Given the description of an element on the screen output the (x, y) to click on. 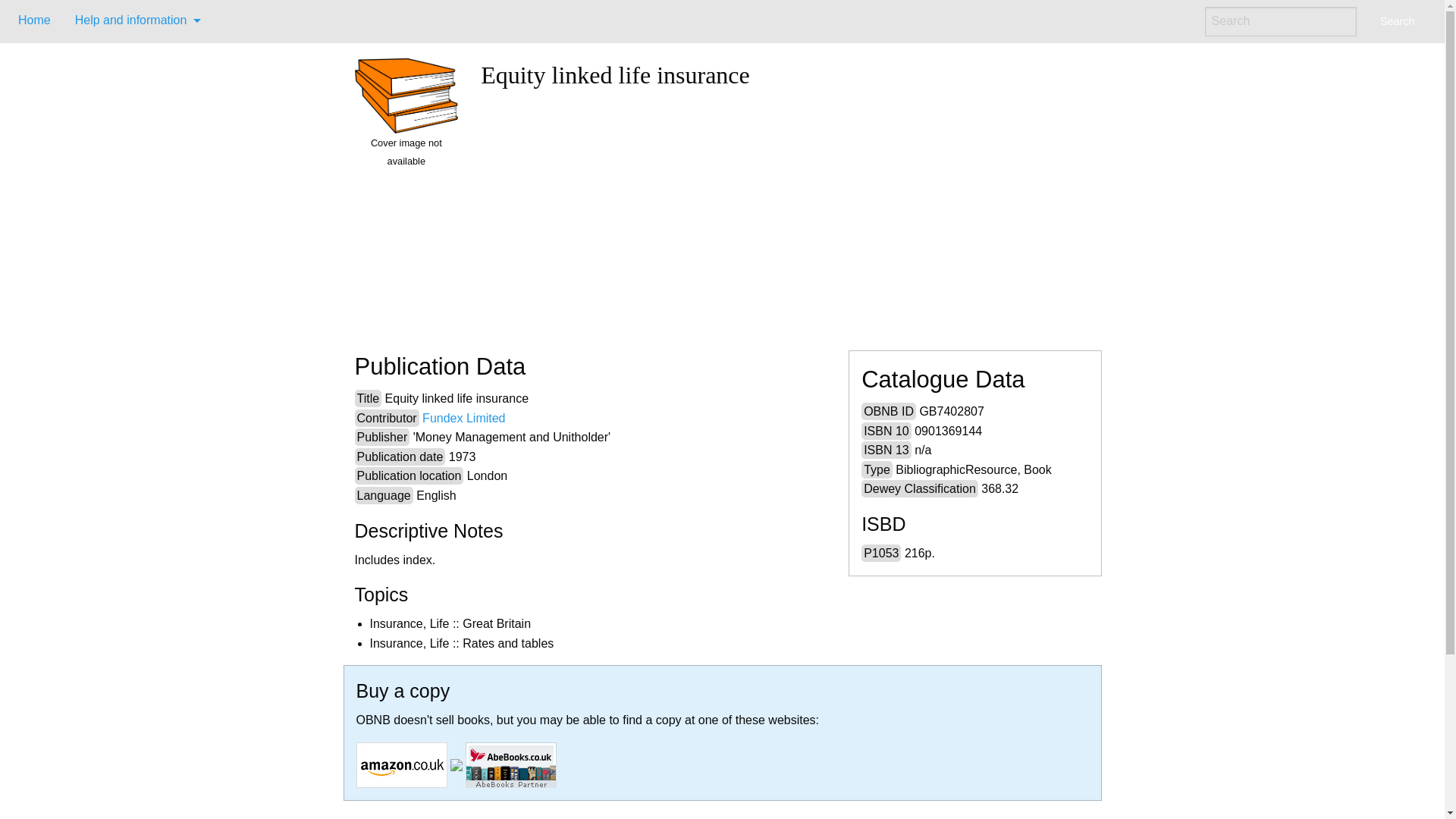
Home (33, 20)
Help and information (133, 20)
Search (1397, 20)
Search (1397, 20)
Fundex Limited (463, 418)
Advertisement (784, 213)
